Given the description of an element on the screen output the (x, y) to click on. 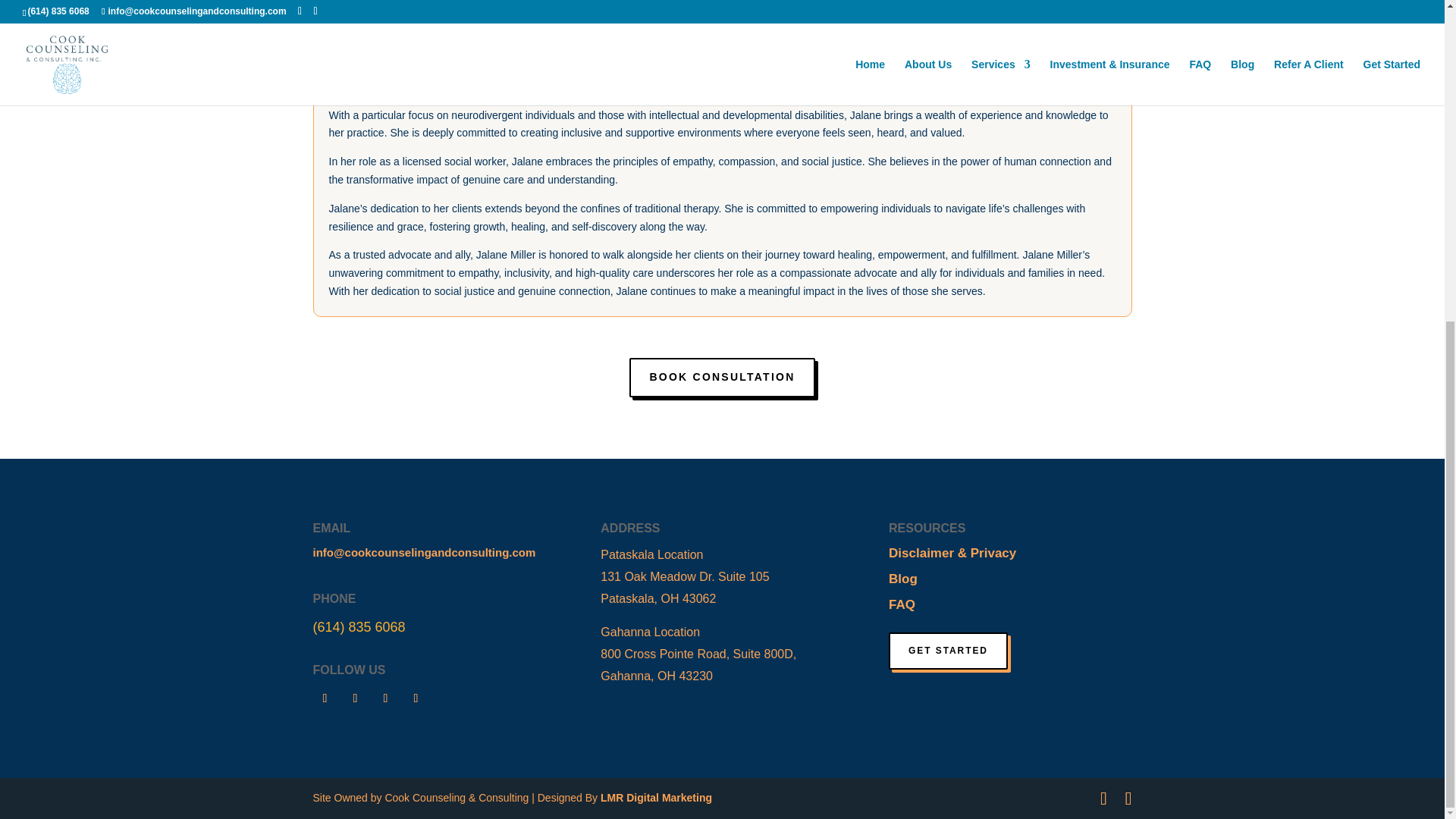
Follow on Pinterest (415, 698)
Follow on Instagram (354, 698)
Follow on Facebook (324, 698)
Follow on LinkedIn (384, 698)
